Given the description of an element on the screen output the (x, y) to click on. 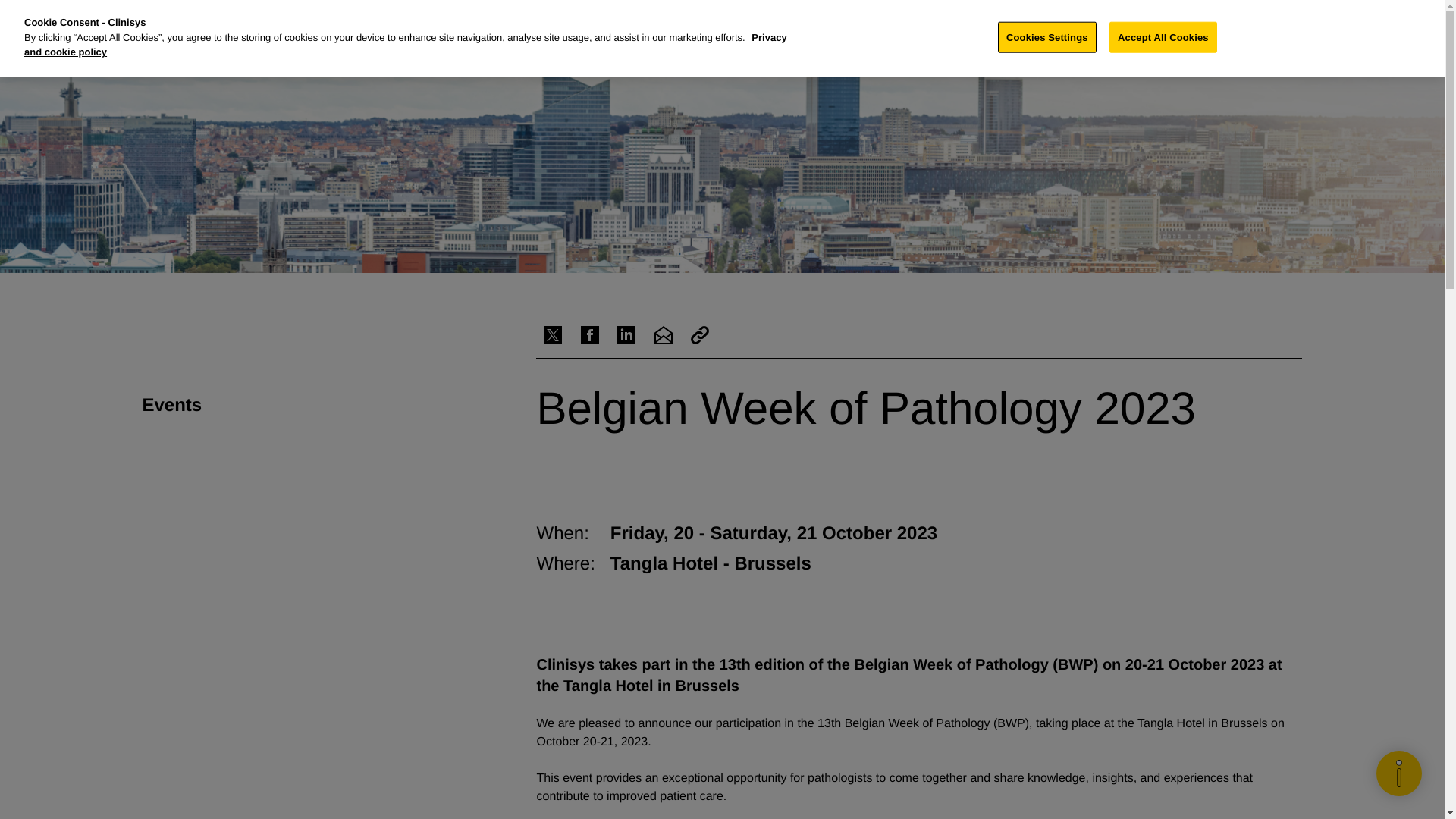
Share on Facebook (590, 335)
Platform (728, 22)
Copy link (699, 335)
Share via email (662, 335)
Share on Linkedin (626, 335)
Solutions (658, 22)
Share on Twitter (552, 335)
